Given the description of an element on the screen output the (x, y) to click on. 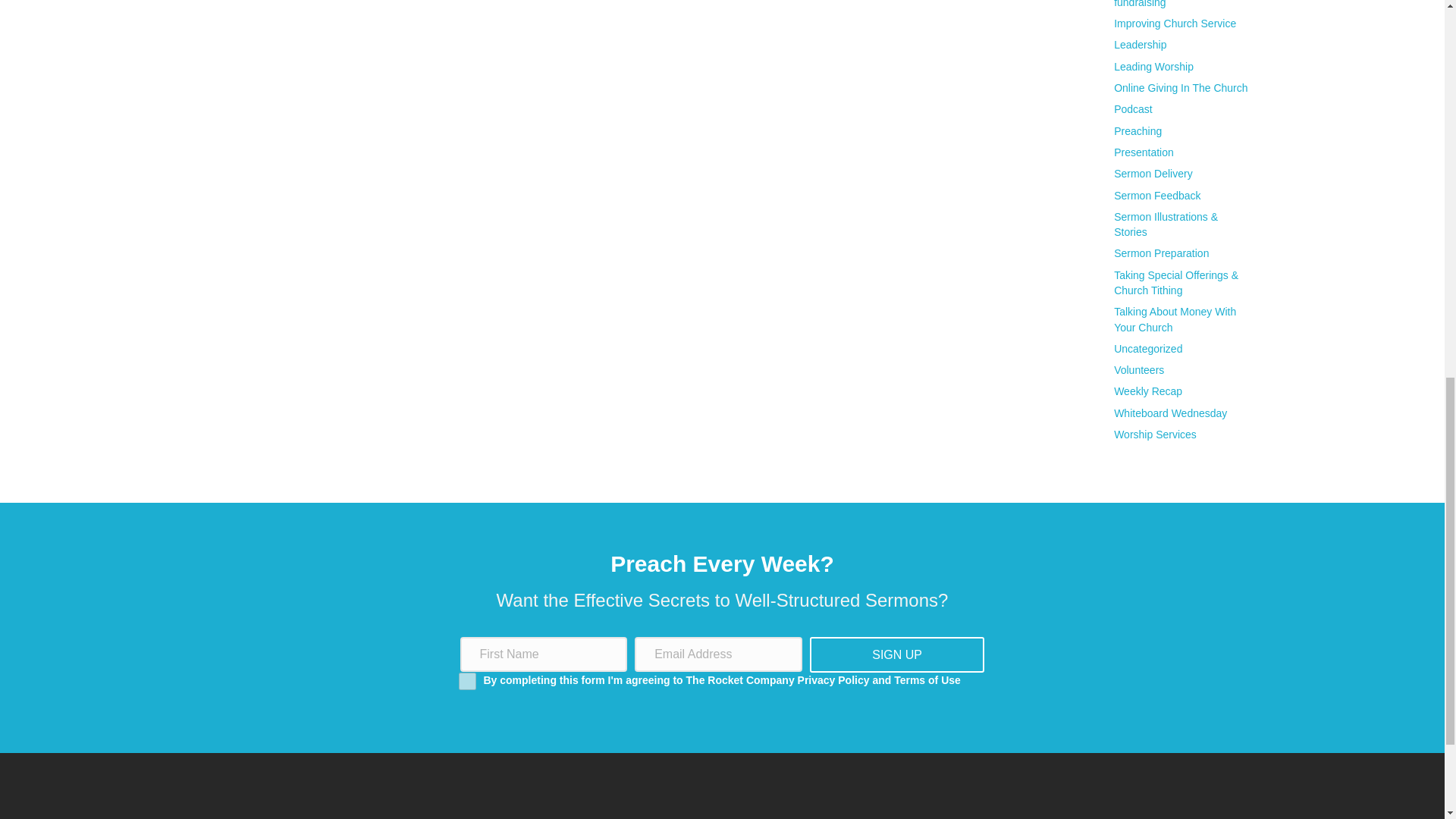
1 (467, 681)
fundraising (1139, 4)
Leadership (1139, 44)
Improving Church Service (1174, 23)
